Given the description of an element on the screen output the (x, y) to click on. 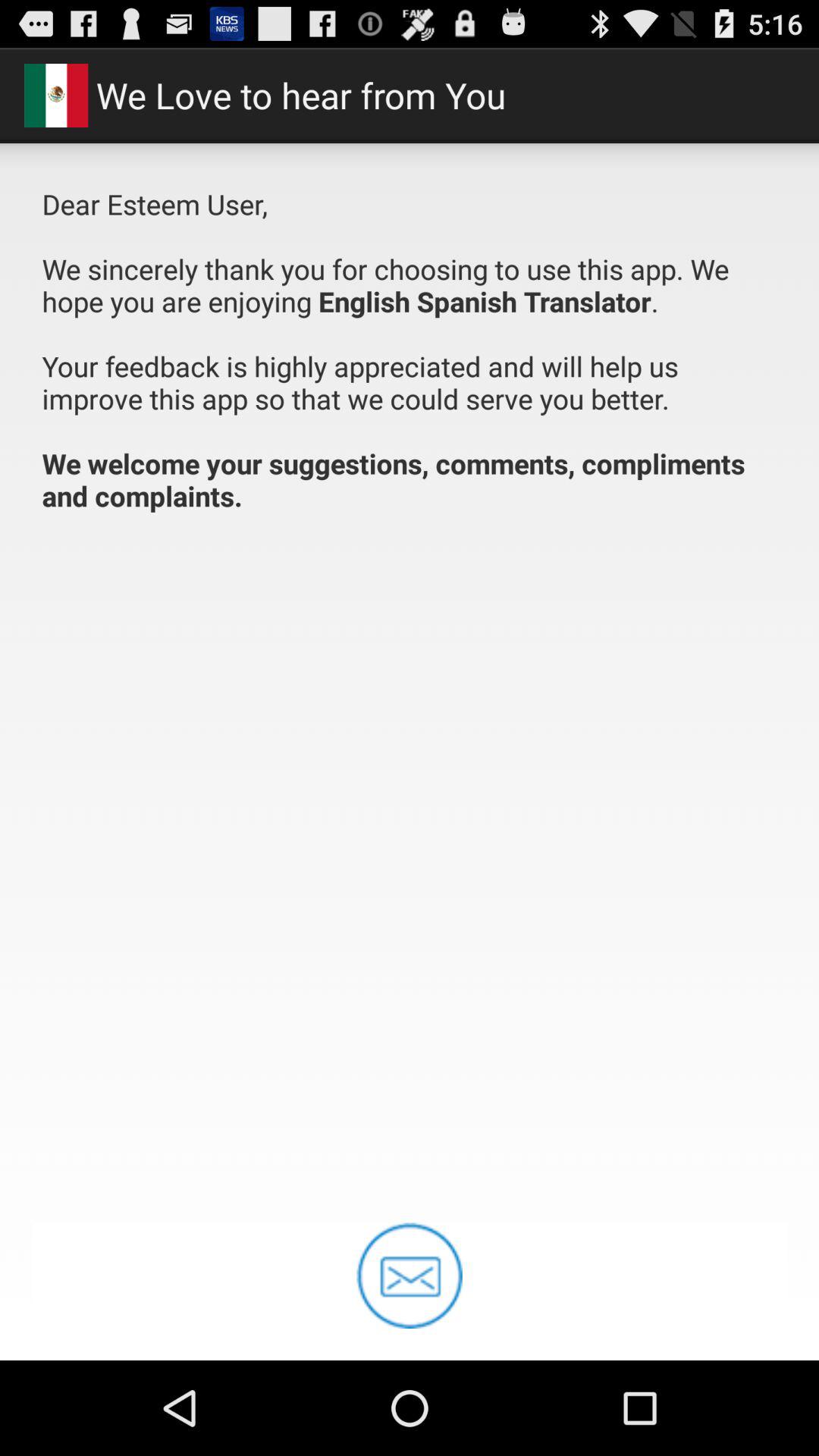
post the comments option (409, 1275)
